Given the description of an element on the screen output the (x, y) to click on. 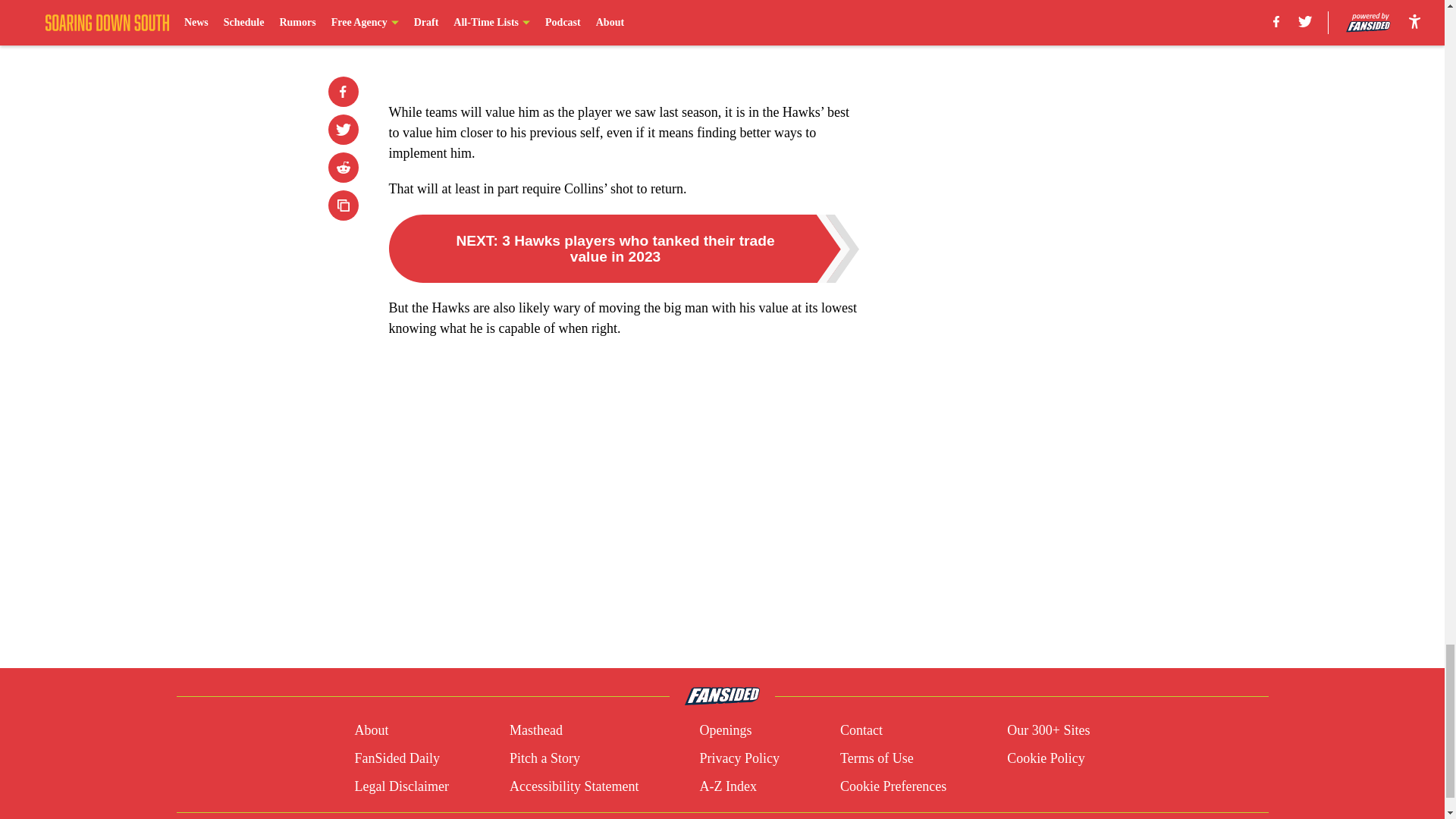
NEXT: 3 Hawks players who tanked their trade value in 2023 (623, 248)
